Given the description of an element on the screen output the (x, y) to click on. 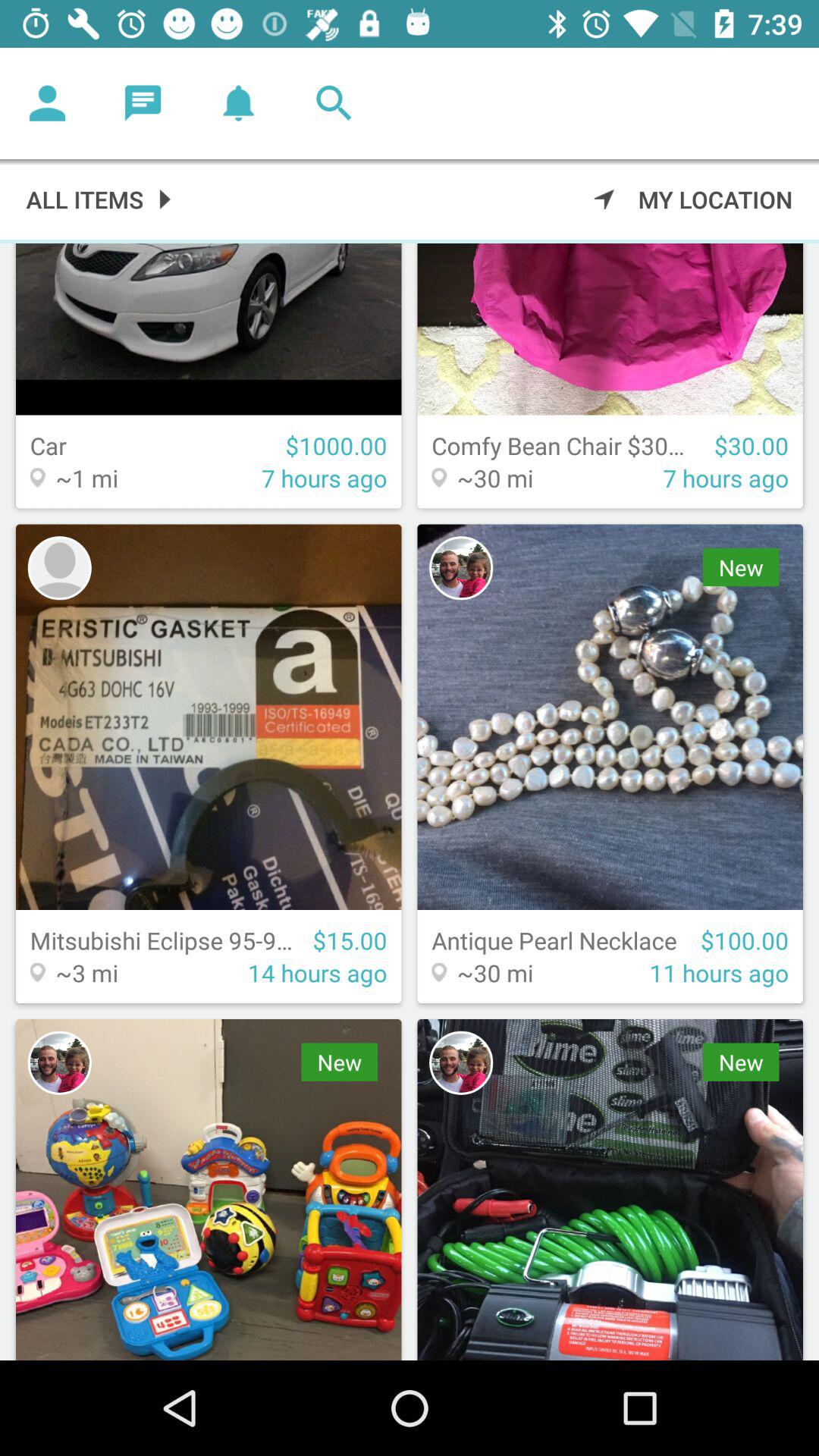
go to user profile (461, 568)
